Given the description of an element on the screen output the (x, y) to click on. 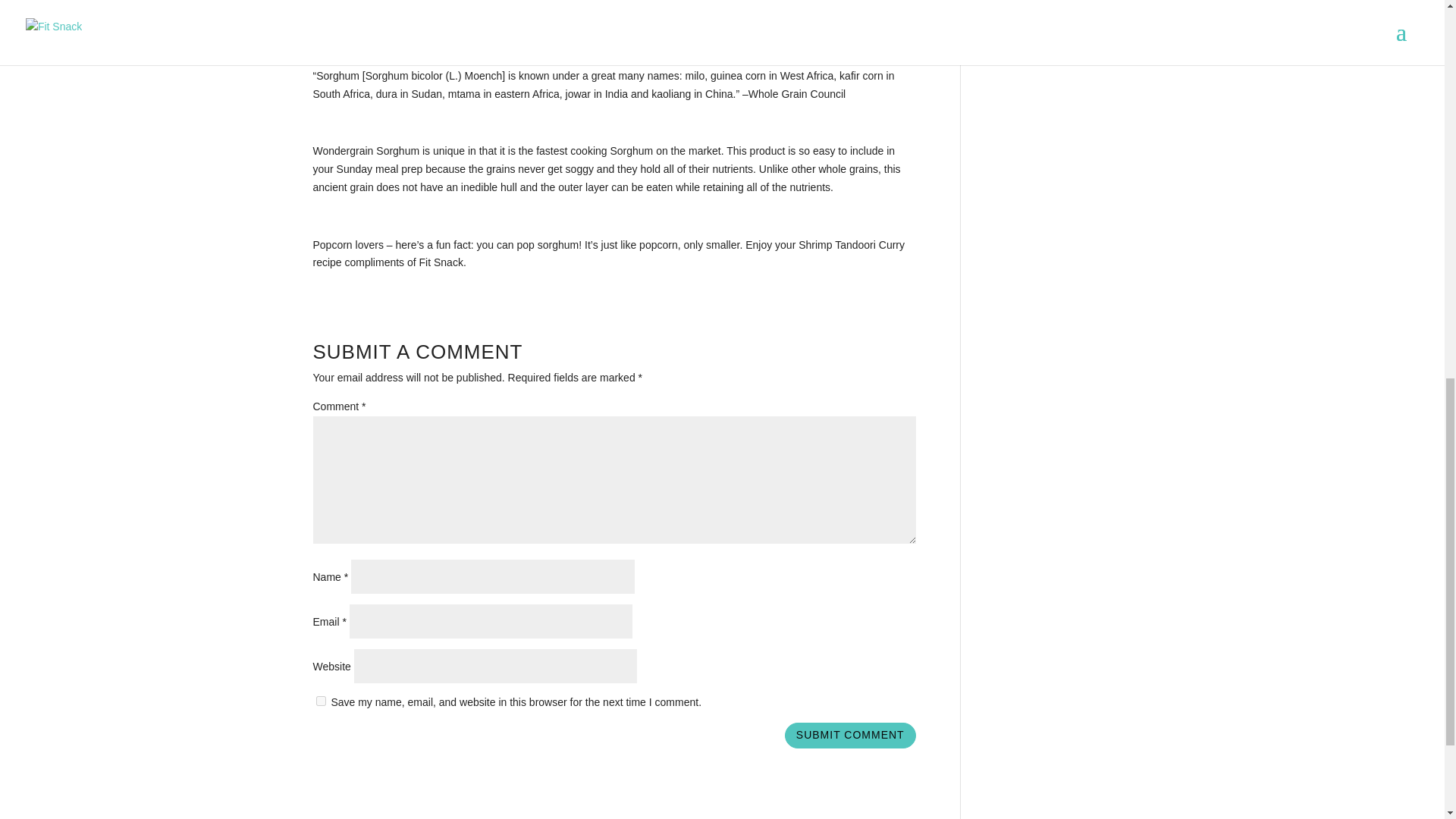
Submit Comment (849, 735)
Submit Comment (849, 735)
yes (319, 700)
